Given the description of an element on the screen output the (x, y) to click on. 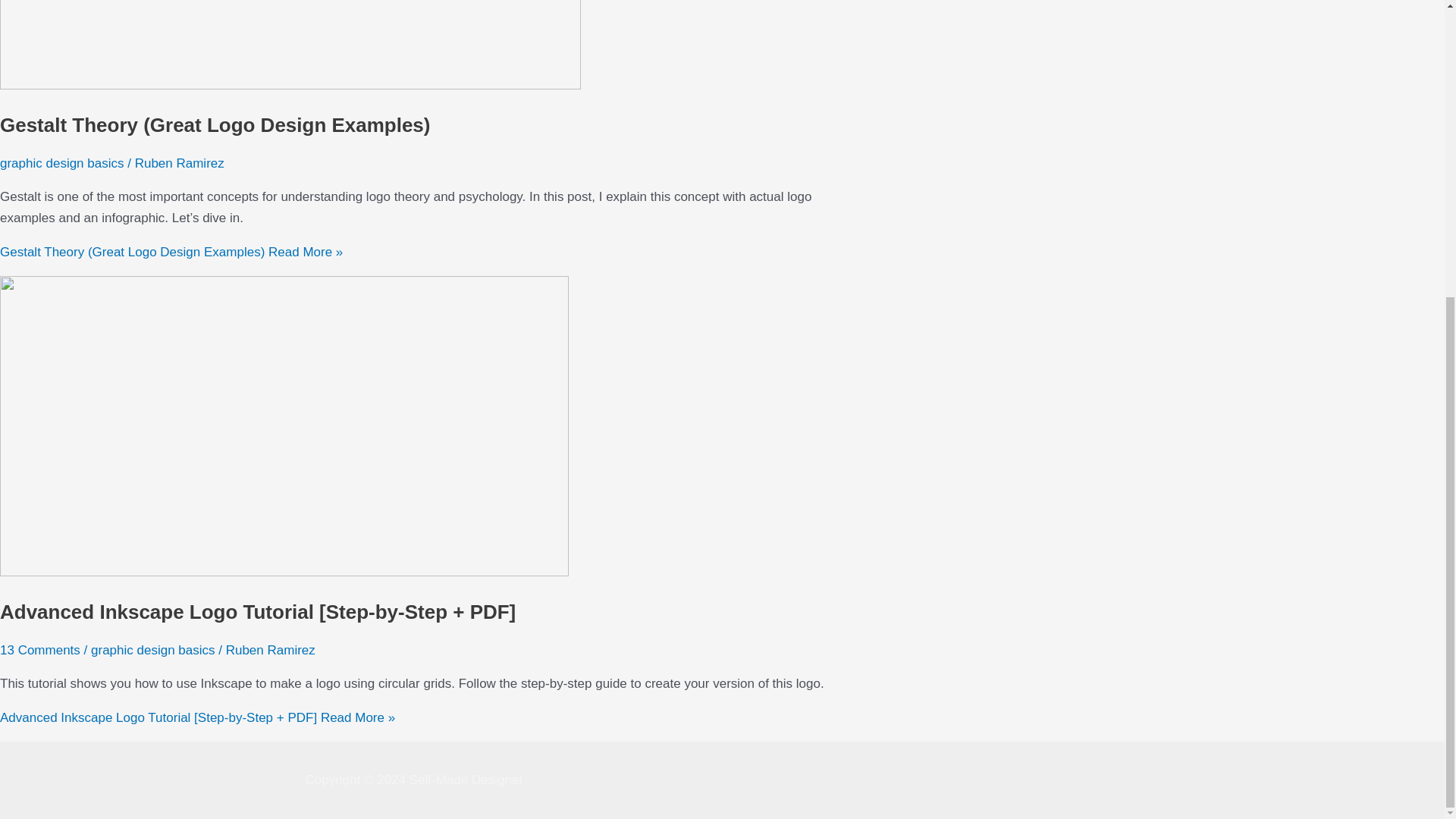
View all posts by Ruben Ramirez (179, 163)
graphic design basics (152, 649)
Ruben Ramirez (270, 649)
Ruben Ramirez (179, 163)
13 Comments (40, 649)
View all posts by Ruben Ramirez (270, 649)
graphic design basics (61, 163)
